Given the description of an element on the screen output the (x, y) to click on. 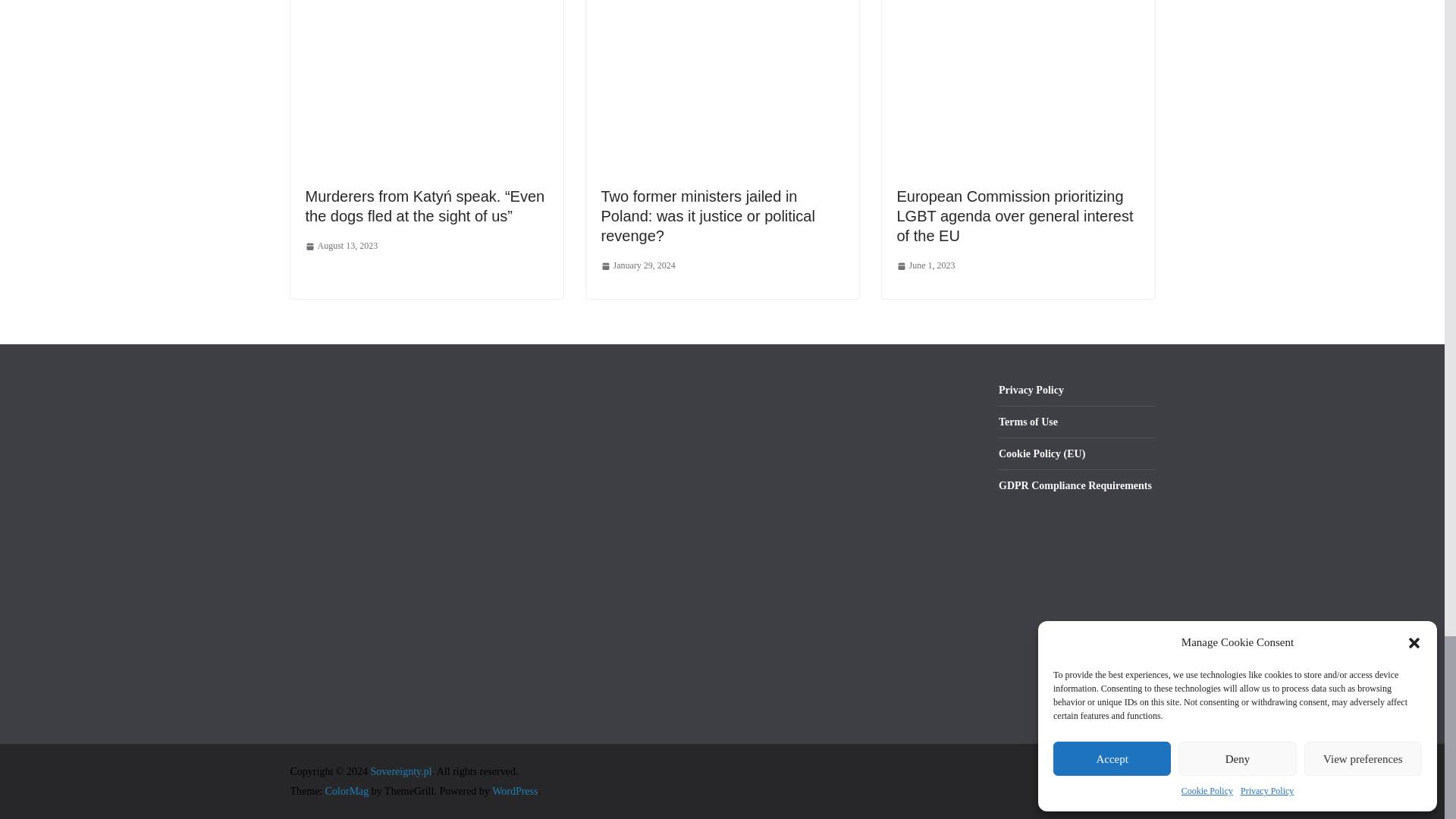
August 13, 2023 (340, 246)
ColorMag (346, 790)
6:50 pm (925, 265)
Sovereignty.pl (399, 771)
8:30 pm (637, 265)
12:44 am (340, 246)
